Given the description of an element on the screen output the (x, y) to click on. 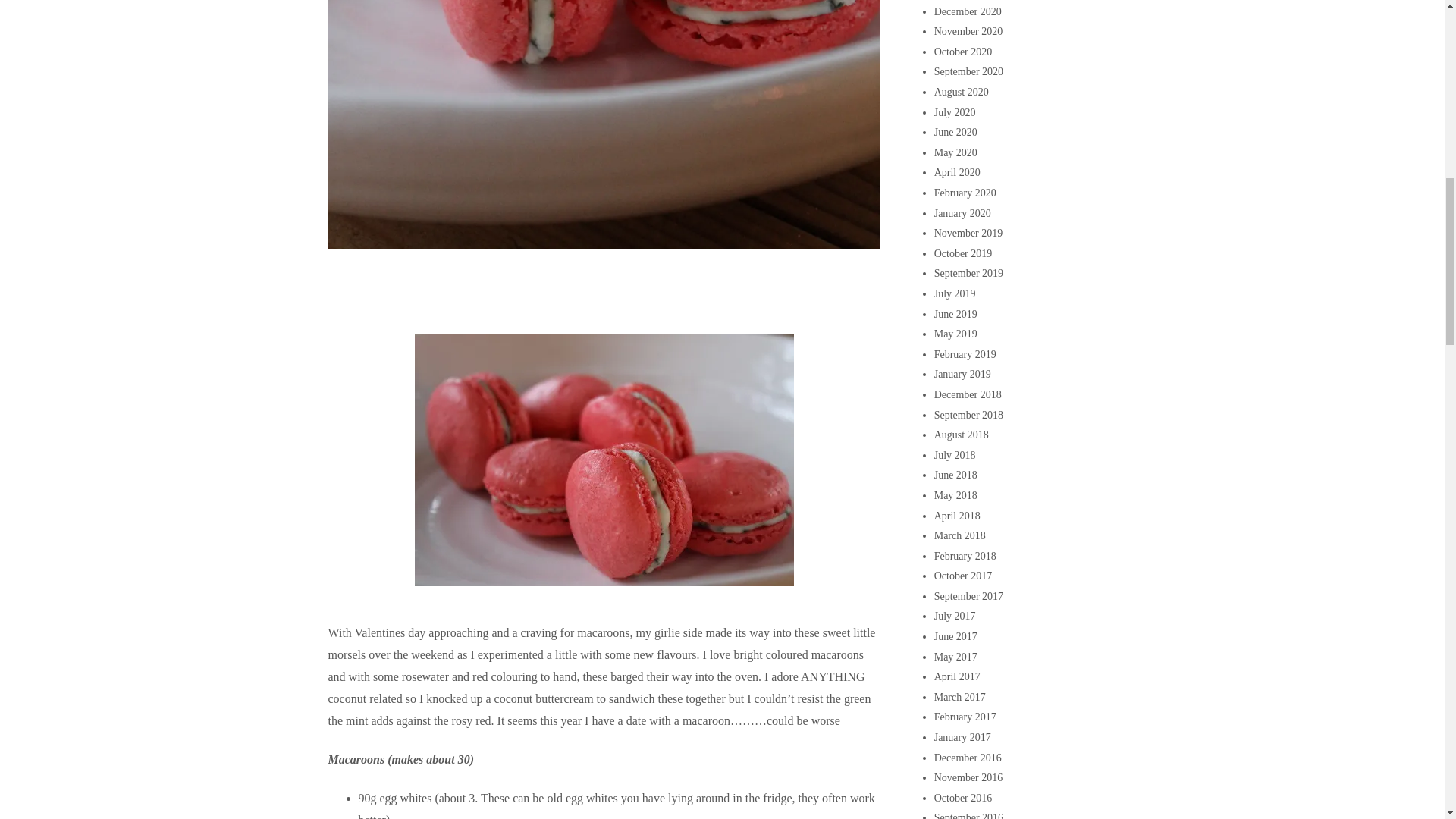
November 2020 (968, 30)
December 2020 (967, 11)
October 2020 (963, 51)
